Given the description of an element on the screen output the (x, y) to click on. 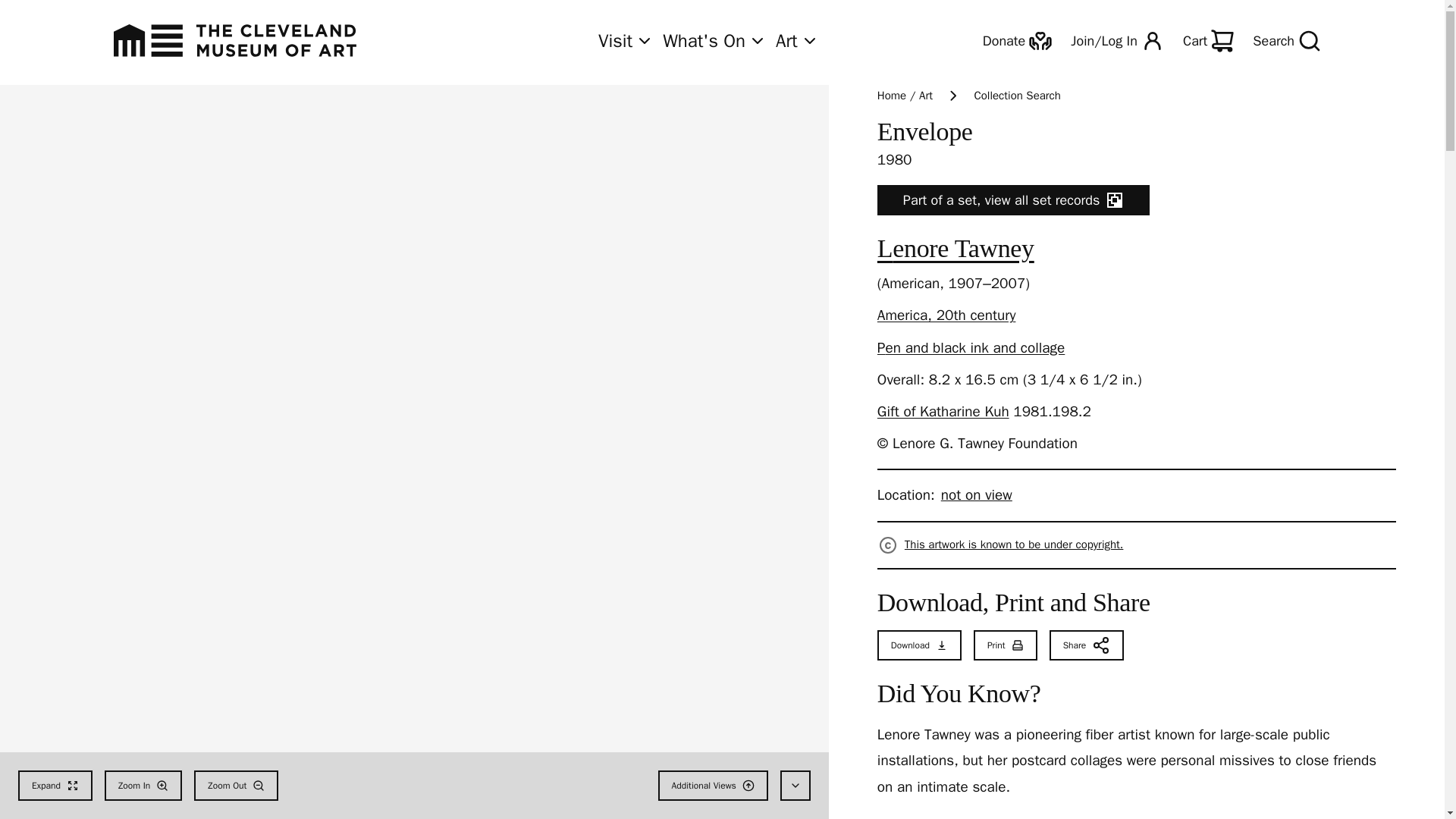
Cart (1208, 40)
Donate (1017, 40)
What's On (714, 40)
Search (1286, 40)
Art (797, 40)
Zoom out (235, 785)
Zoom in (143, 785)
Visit (625, 40)
